Given the description of an element on the screen output the (x, y) to click on. 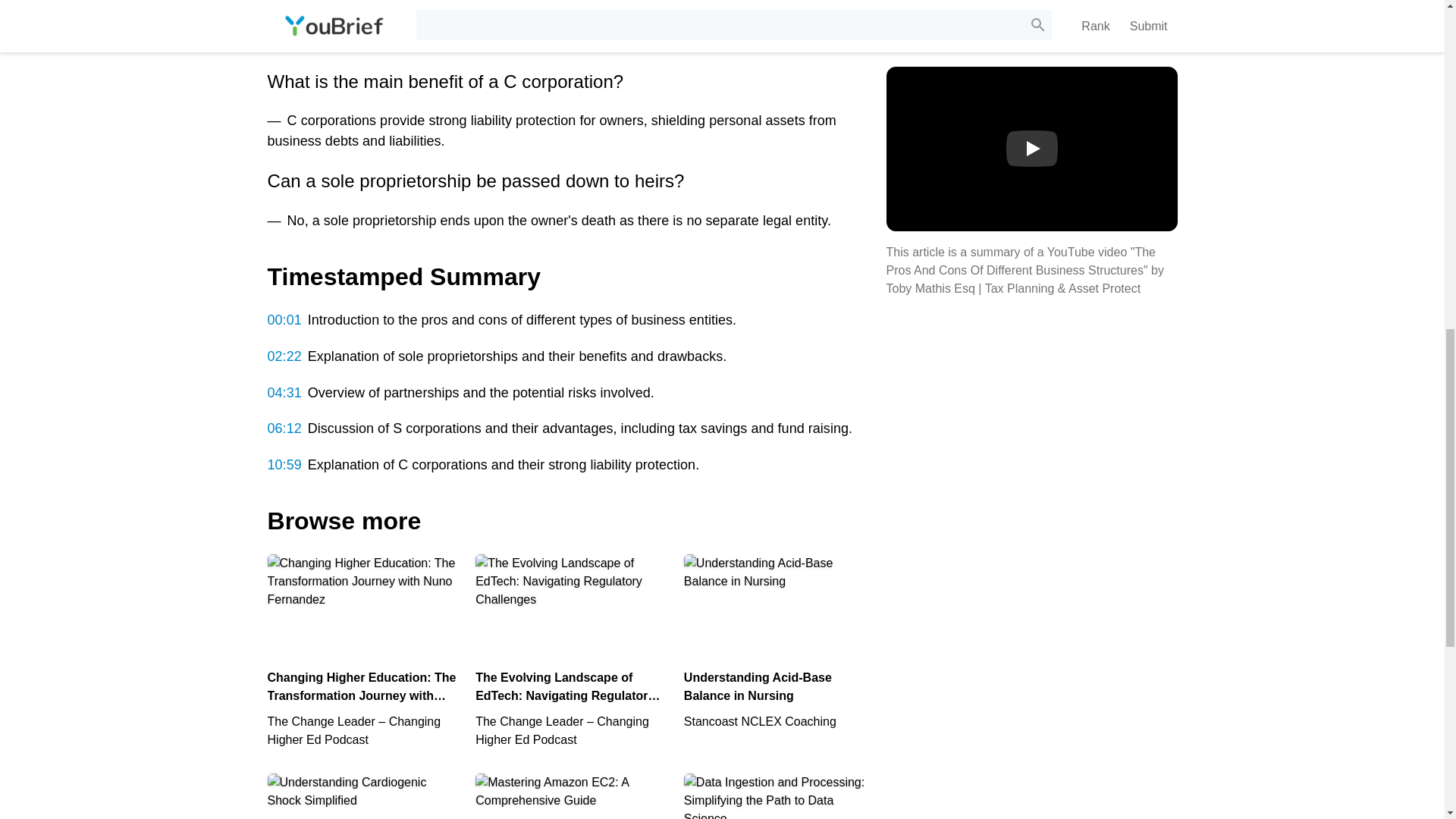
Understanding Acid-Base Balance in Nursing (362, 796)
Understanding Cardiogenic Shock Simplified (779, 642)
Mastering Amazon EC2: A Comprehensive Guide (362, 796)
